Given the description of an element on the screen output the (x, y) to click on. 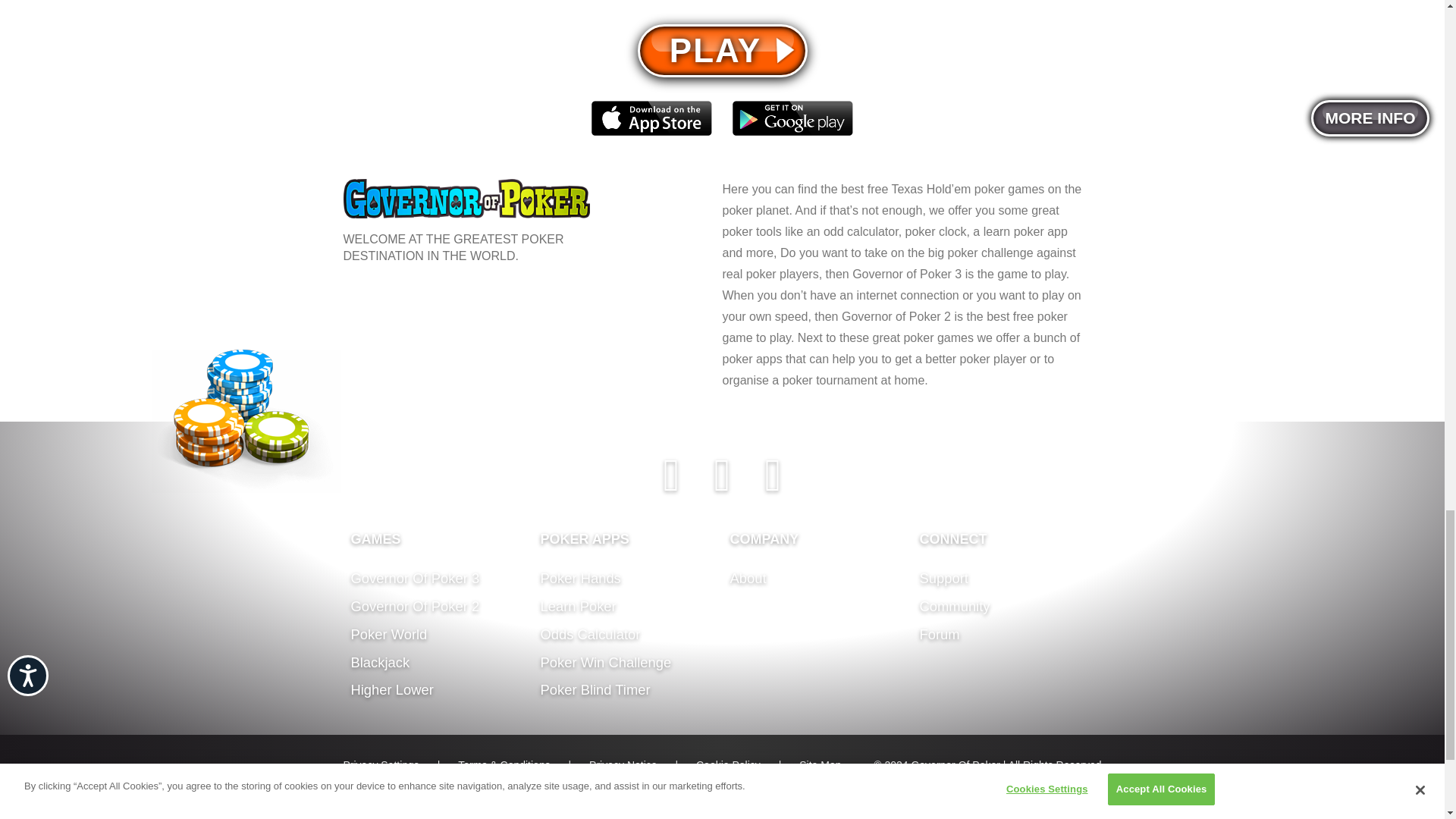
Blackjack (379, 662)
MORE INFO (1370, 117)
PLAY (721, 50)
Governor Of Poker 3 (414, 578)
Higher Lower (391, 689)
Poker World (388, 634)
Governor Of Poker 2 (414, 606)
